Given the description of an element on the screen output the (x, y) to click on. 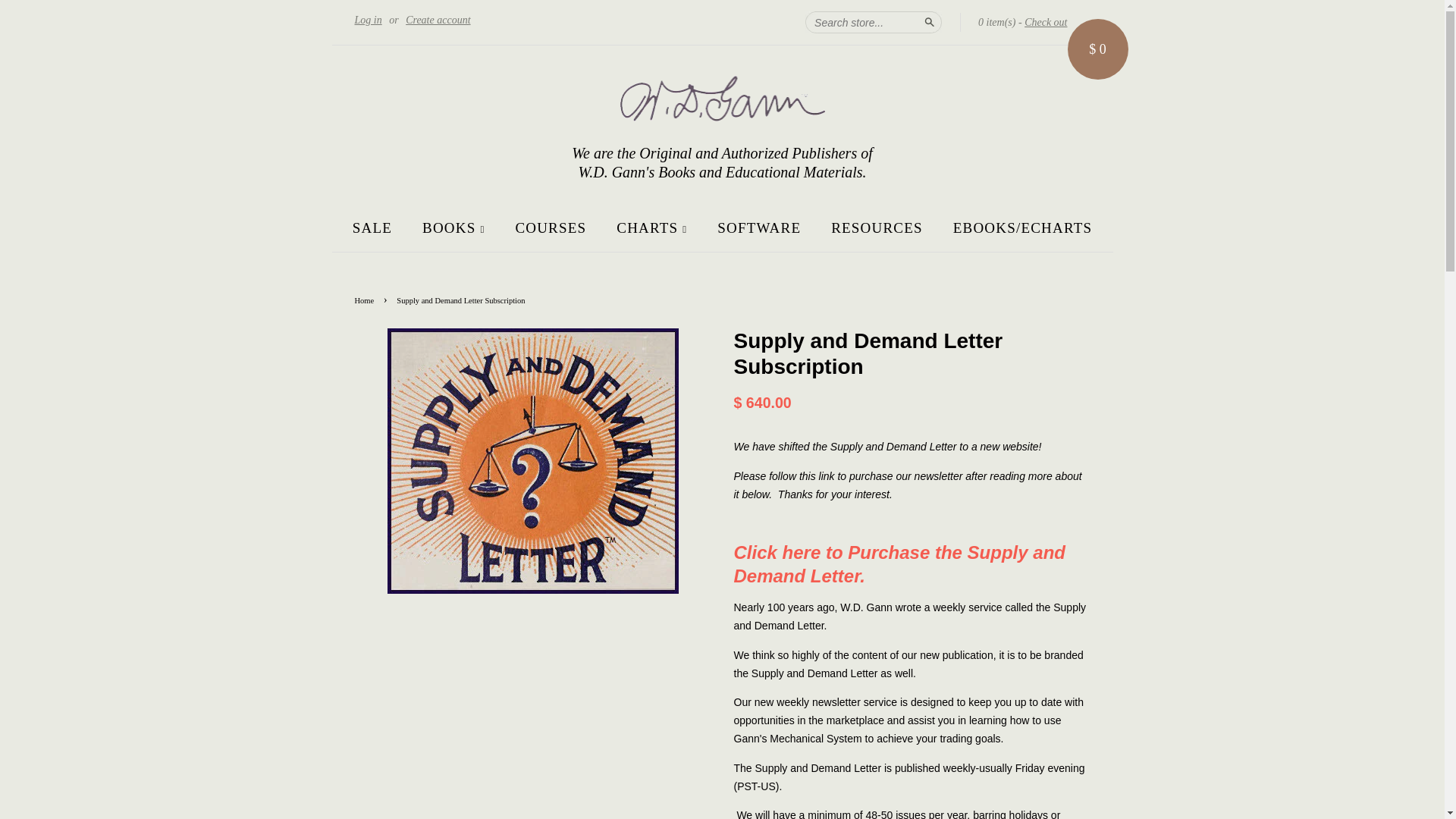
Create account (438, 19)
Back to the frontpage (366, 300)
SALE (378, 227)
Check out (1046, 22)
CHARTS (652, 227)
Log in (368, 19)
Supply and Demand Newsletter (899, 564)
Home (366, 300)
Click here to Purchase the Supply and Demand Letter. (899, 564)
RESOURCES (877, 227)
COURSES (550, 227)
SOFTWARE (758, 227)
BOOKS (453, 227)
